Given the description of an element on the screen output the (x, y) to click on. 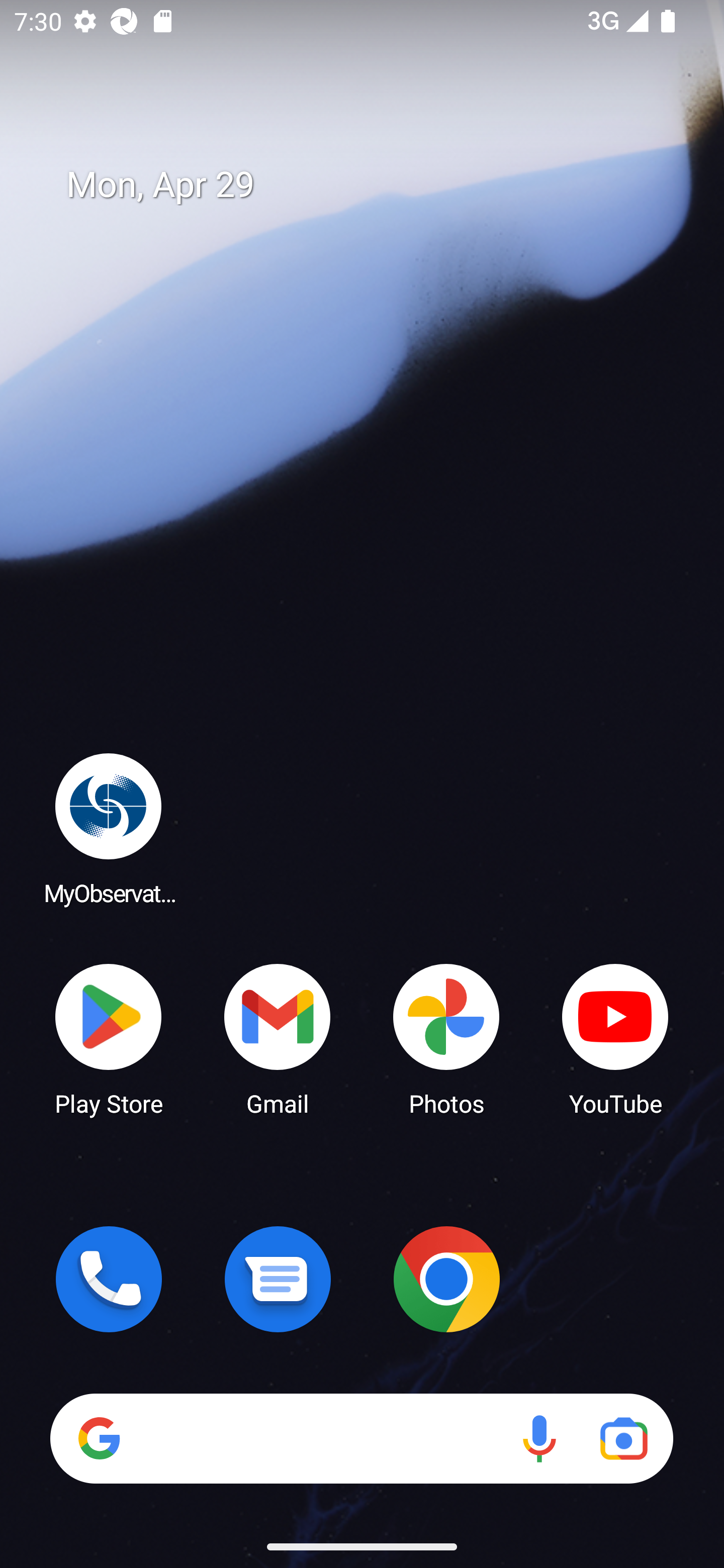
Mon, Apr 29 (375, 184)
MyObservatory (108, 828)
Play Store (108, 1038)
Gmail (277, 1038)
Photos (445, 1038)
YouTube (615, 1038)
Phone (108, 1279)
Messages (277, 1279)
Chrome (446, 1279)
Voice search (539, 1438)
Google Lens (623, 1438)
